Given the description of an element on the screen output the (x, y) to click on. 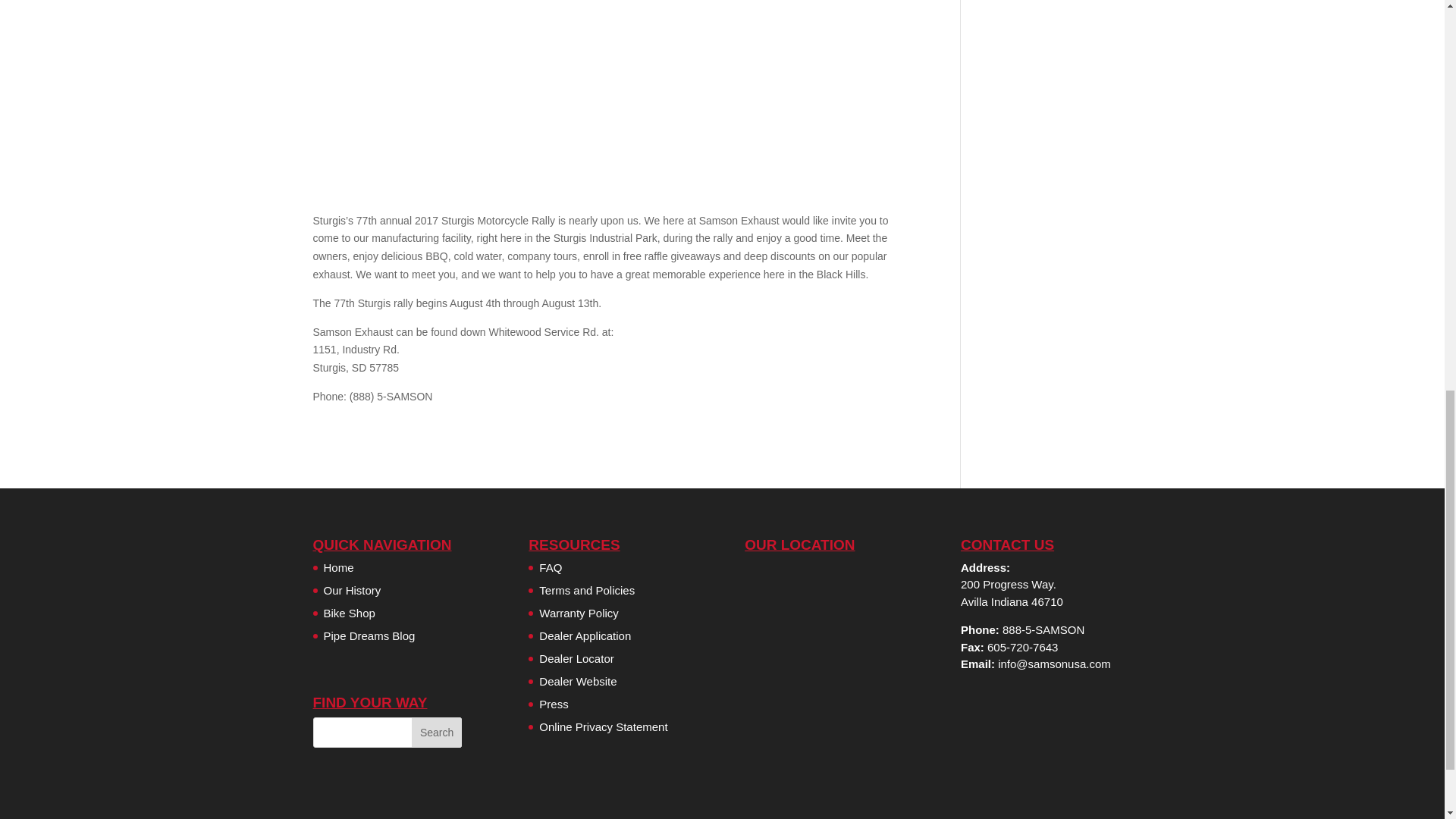
FAQ (550, 567)
Pipe Dreams Blog (368, 635)
Search (436, 732)
Our History (351, 590)
Search (436, 732)
Terms and Policies (586, 590)
Home (338, 567)
Bike Shop (348, 612)
